Given the description of an element on the screen output the (x, y) to click on. 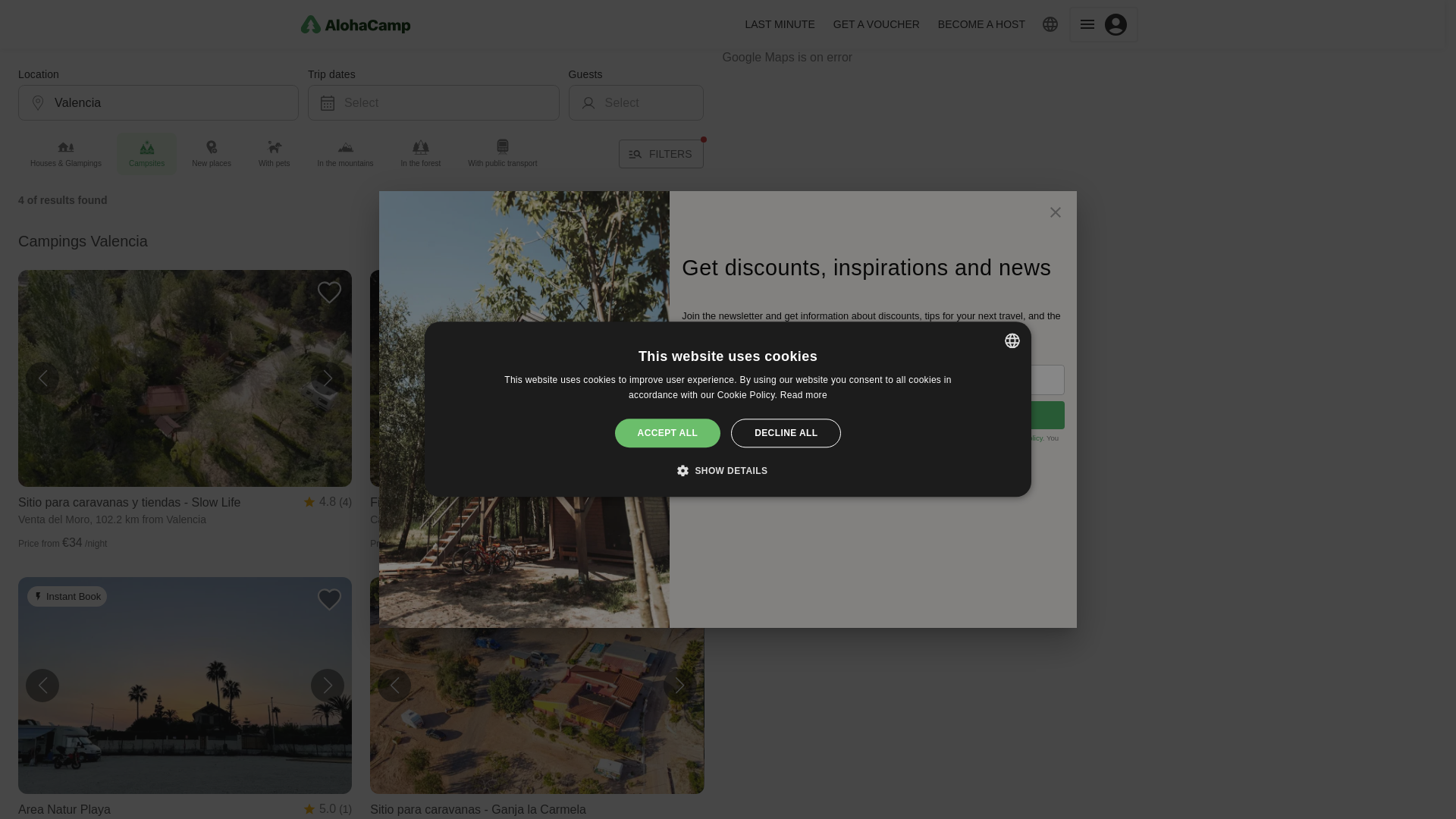
BECOME A HOST (980, 24)
LAST MINUTE (779, 24)
GET A VOUCHER (876, 24)
FILTERS (661, 153)
Sitio para caravanas - Ganja la Carmela (536, 809)
Valencia (149, 102)
